Given the description of an element on the screen output the (x, y) to click on. 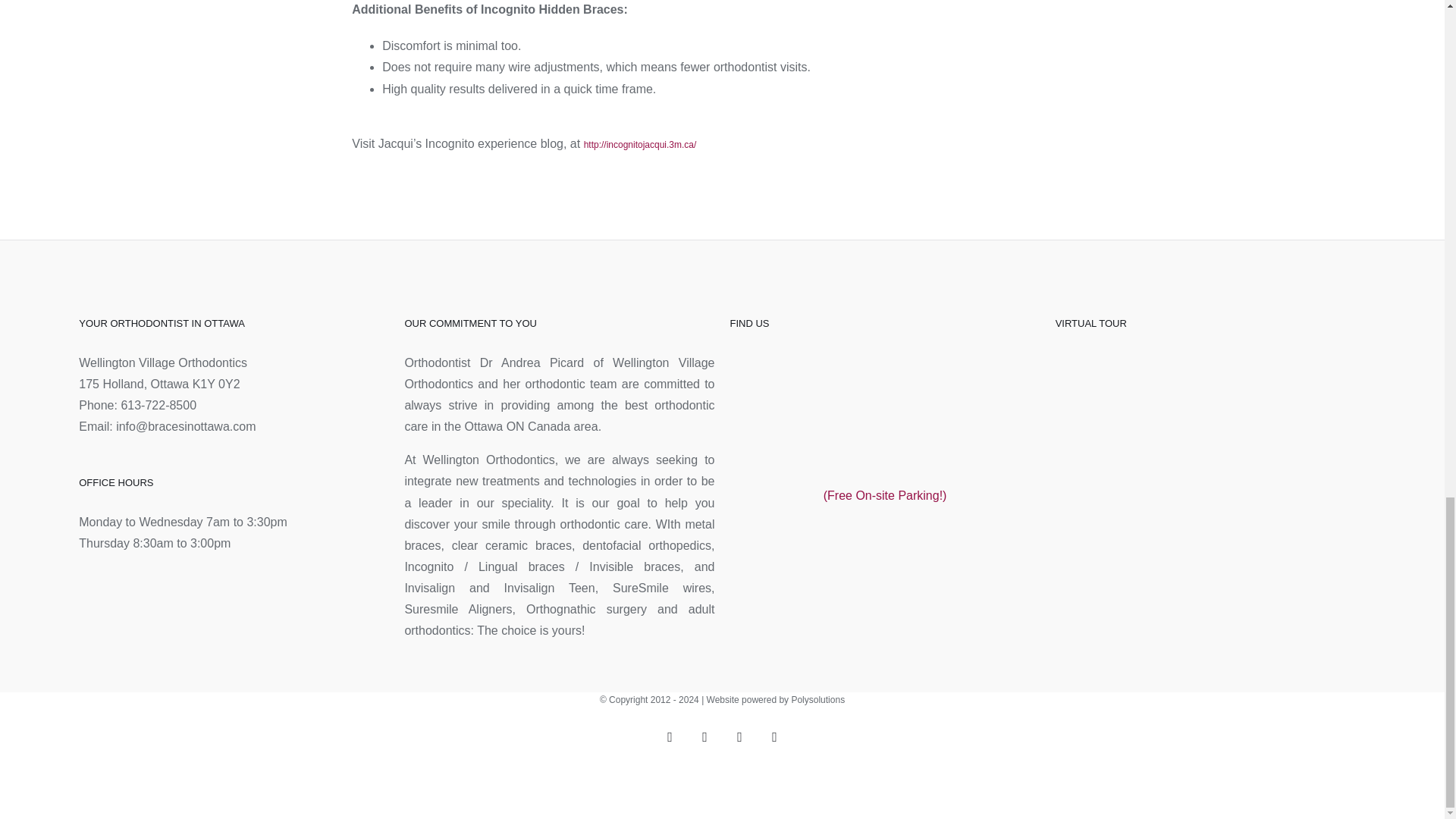
Instagram (775, 737)
YouTube (740, 737)
Twitter (705, 737)
Facebook (670, 737)
